Given the description of an element on the screen output the (x, y) to click on. 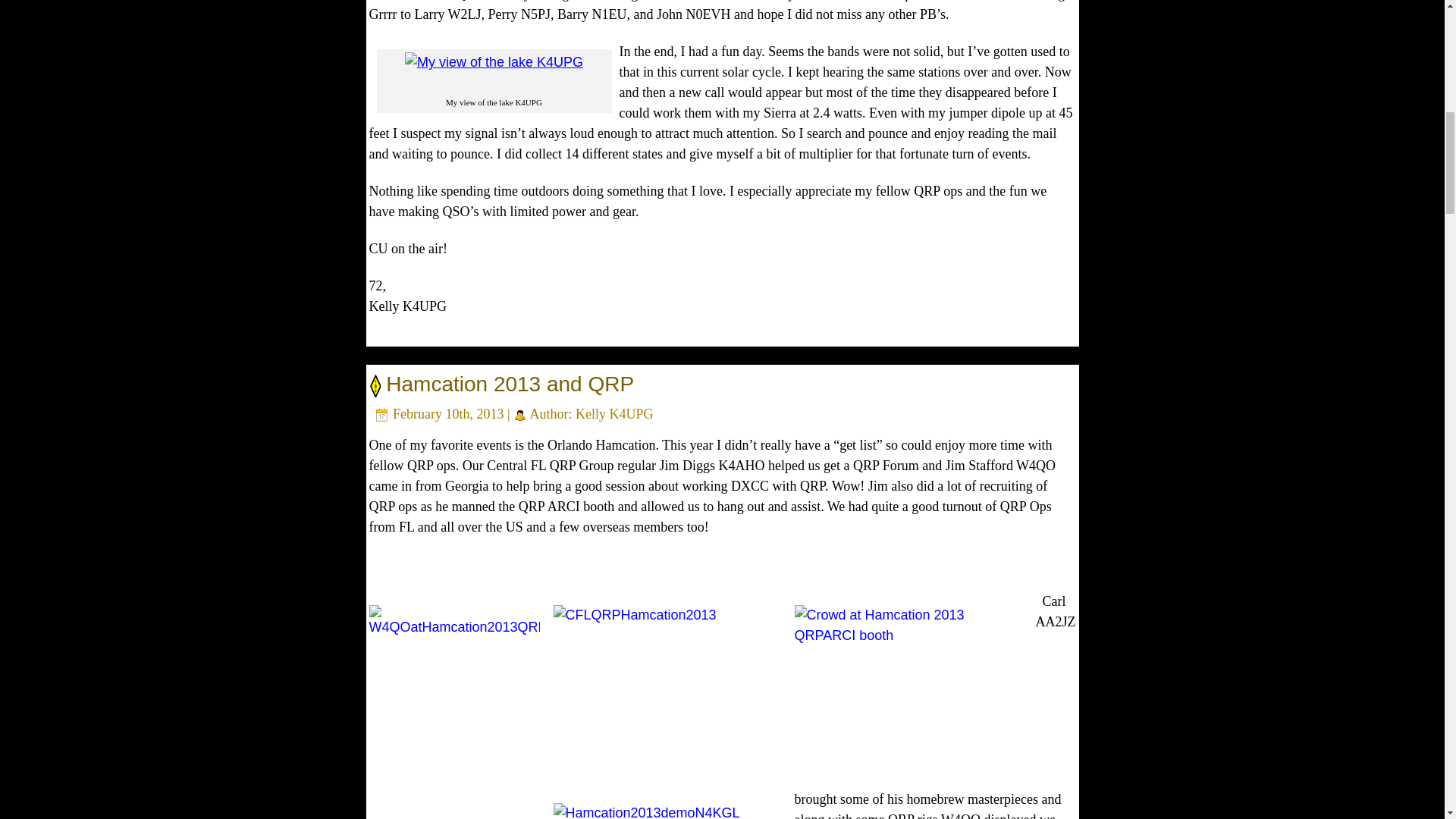
Hamcation 2013 and QRP (509, 383)
Posts by Kelly K4UPG (614, 413)
Kelly K4UPG (614, 413)
Permanent Link to Hamcation 2013 and QRP (509, 383)
